Given the description of an element on the screen output the (x, y) to click on. 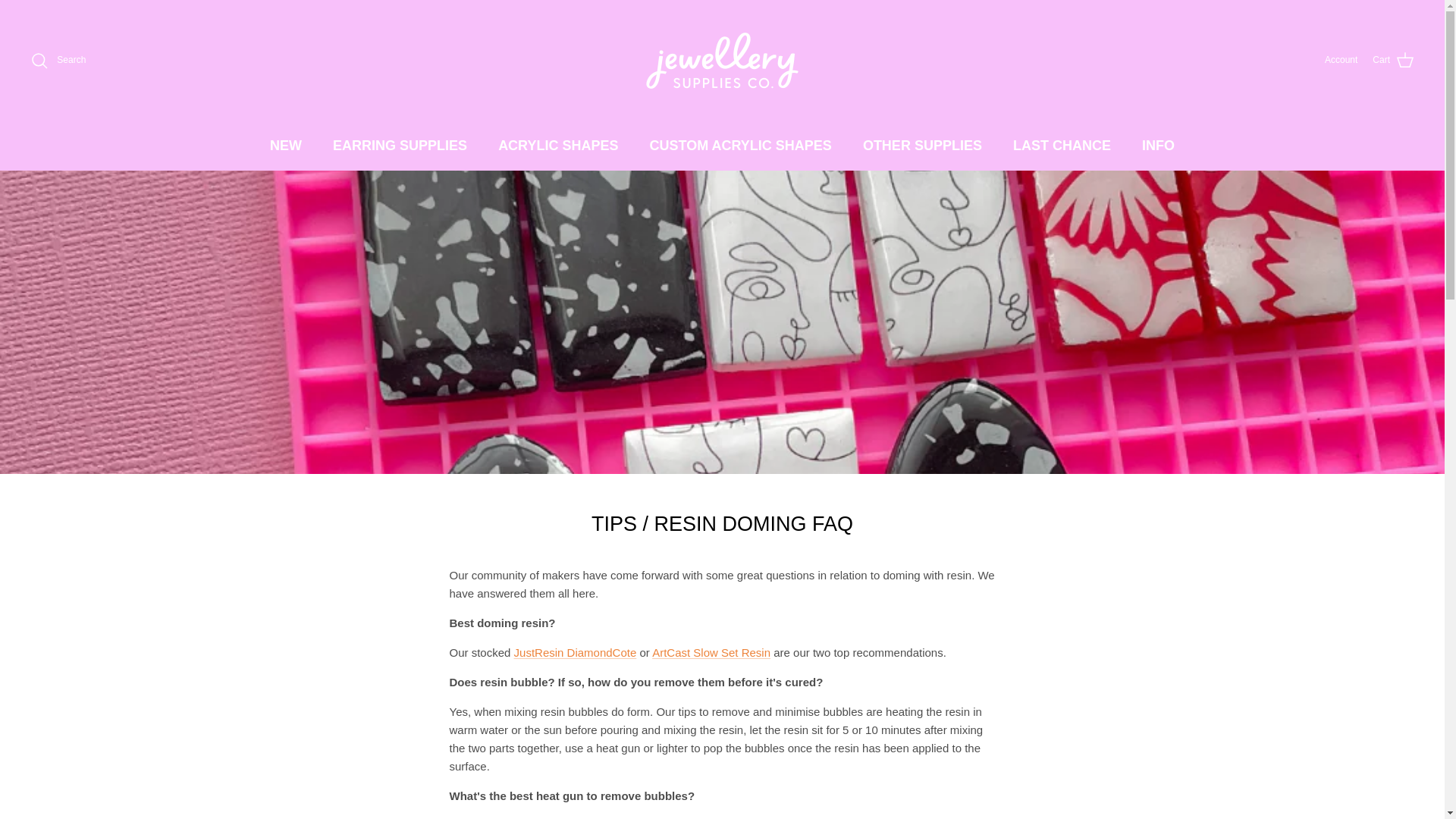
NEW (285, 145)
EARRING SUPPLIES (399, 145)
Jewellery Supplies Co (721, 60)
ACRYLIC SHAPES (557, 145)
Cart (1393, 60)
Account (1340, 60)
Search (57, 60)
